Given the description of an element on the screen output the (x, y) to click on. 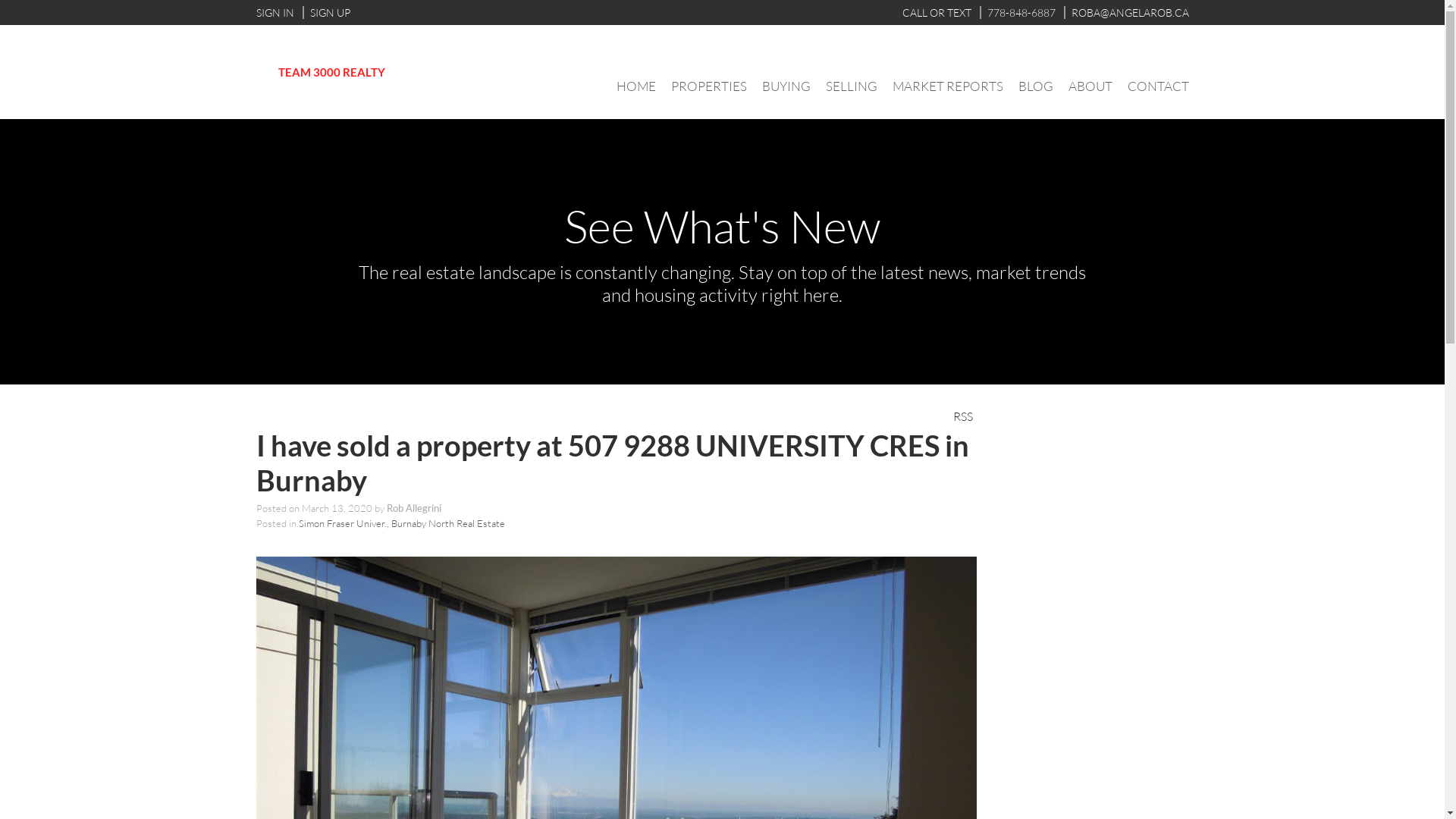
BLOG Element type: text (1035, 85)
PROPERTIES Element type: text (707, 85)
SIGN UP Element type: text (325, 12)
ROBA@ANGELAROB.CA Element type: text (1125, 12)
ABOUT Element type: text (1089, 85)
SELLING Element type: text (850, 85)
MARKET REPORTS Element type: text (947, 85)
Simon Fraser Univer., Burnaby North Real Estate Element type: text (401, 523)
778-848-6887 Element type: text (1017, 12)
TEAM 3000 REALTY Element type: text (331, 71)
SIGN IN Element type: text (275, 12)
BUYING Element type: text (785, 85)
CONTACT Element type: text (1157, 85)
HOME Element type: text (635, 85)
RSS Element type: text (962, 414)
